Given the description of an element on the screen output the (x, y) to click on. 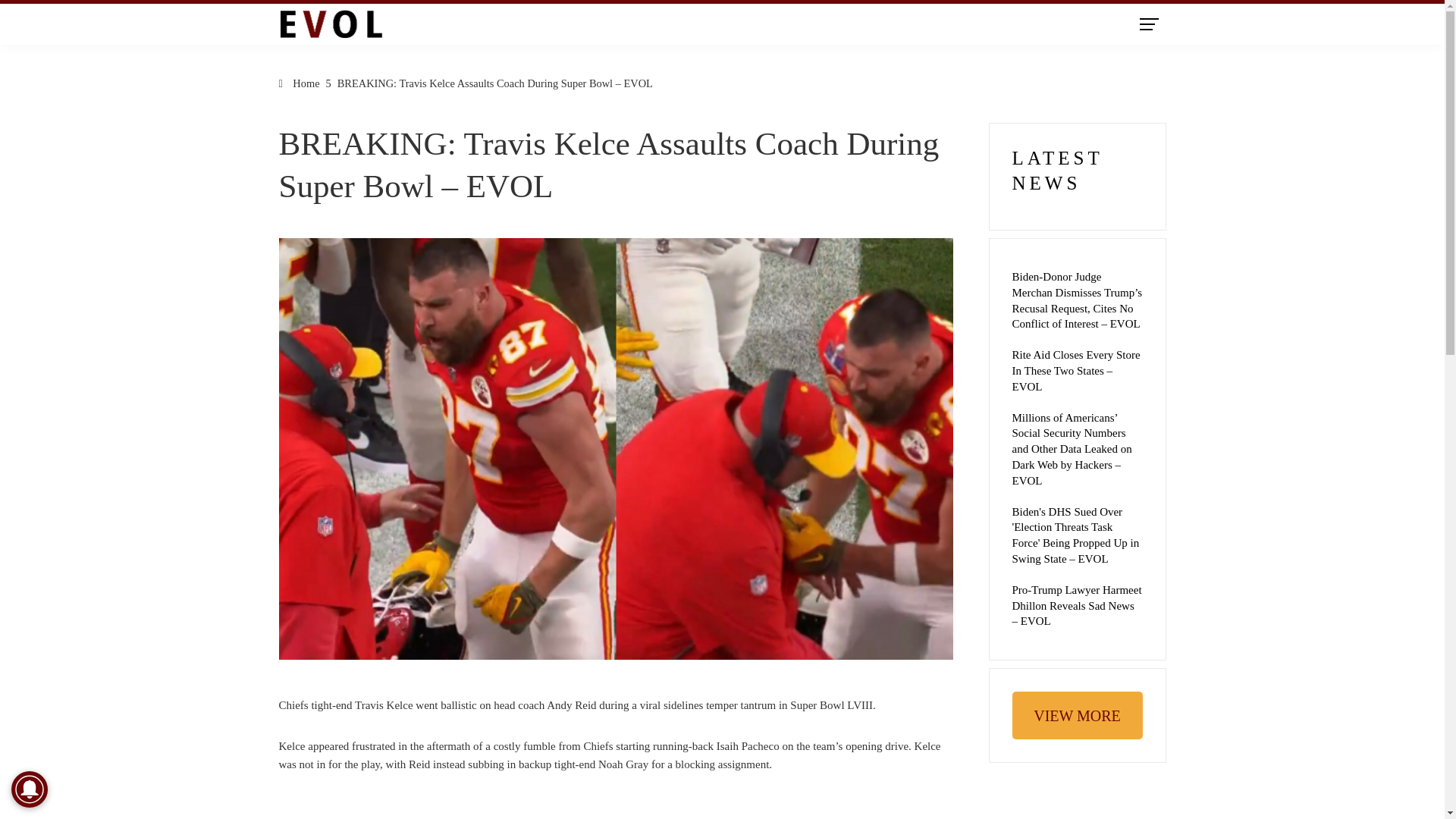
Advertisement (616, 807)
VIEW MORE (1076, 715)
Home (299, 82)
